Given the description of an element on the screen output the (x, y) to click on. 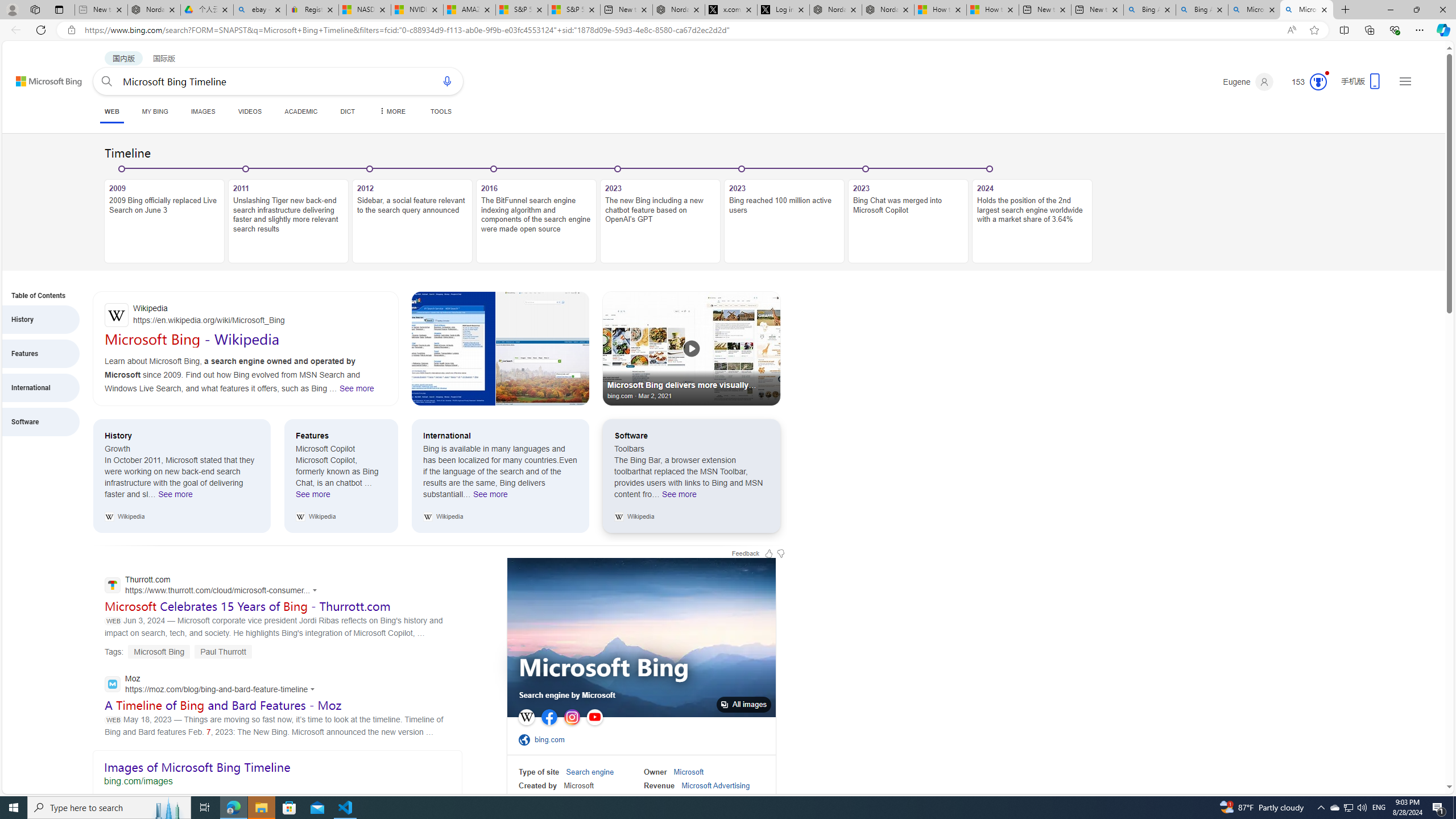
Feedback Dislike (780, 552)
A Timeline of Bing and Bard Features - Moz (223, 704)
Type of site (538, 772)
See more Features (312, 496)
Tags: Microsoft Bing Paul Thurrott (177, 651)
